Given the description of an element on the screen output the (x, y) to click on. 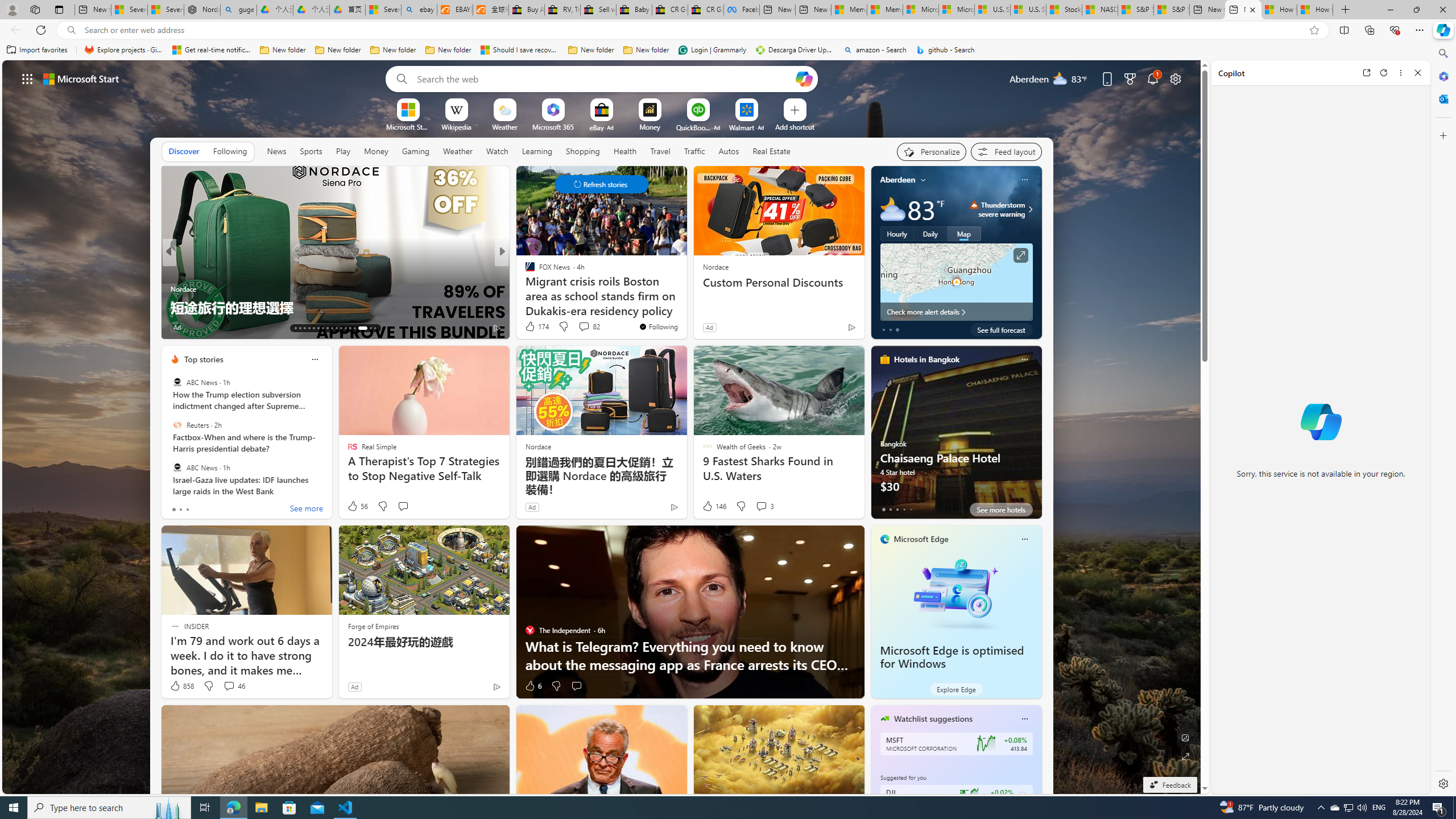
View comments 2 Comment (229, 327)
tab-0 (882, 509)
Open Copilot (803, 78)
The Atlantic (524, 288)
Side bar (1443, 418)
View comments 46 Comment (228, 685)
View comments 46 Comment (233, 685)
Facebook (741, 9)
Ad Choice (496, 686)
